Given the description of an element on the screen output the (x, y) to click on. 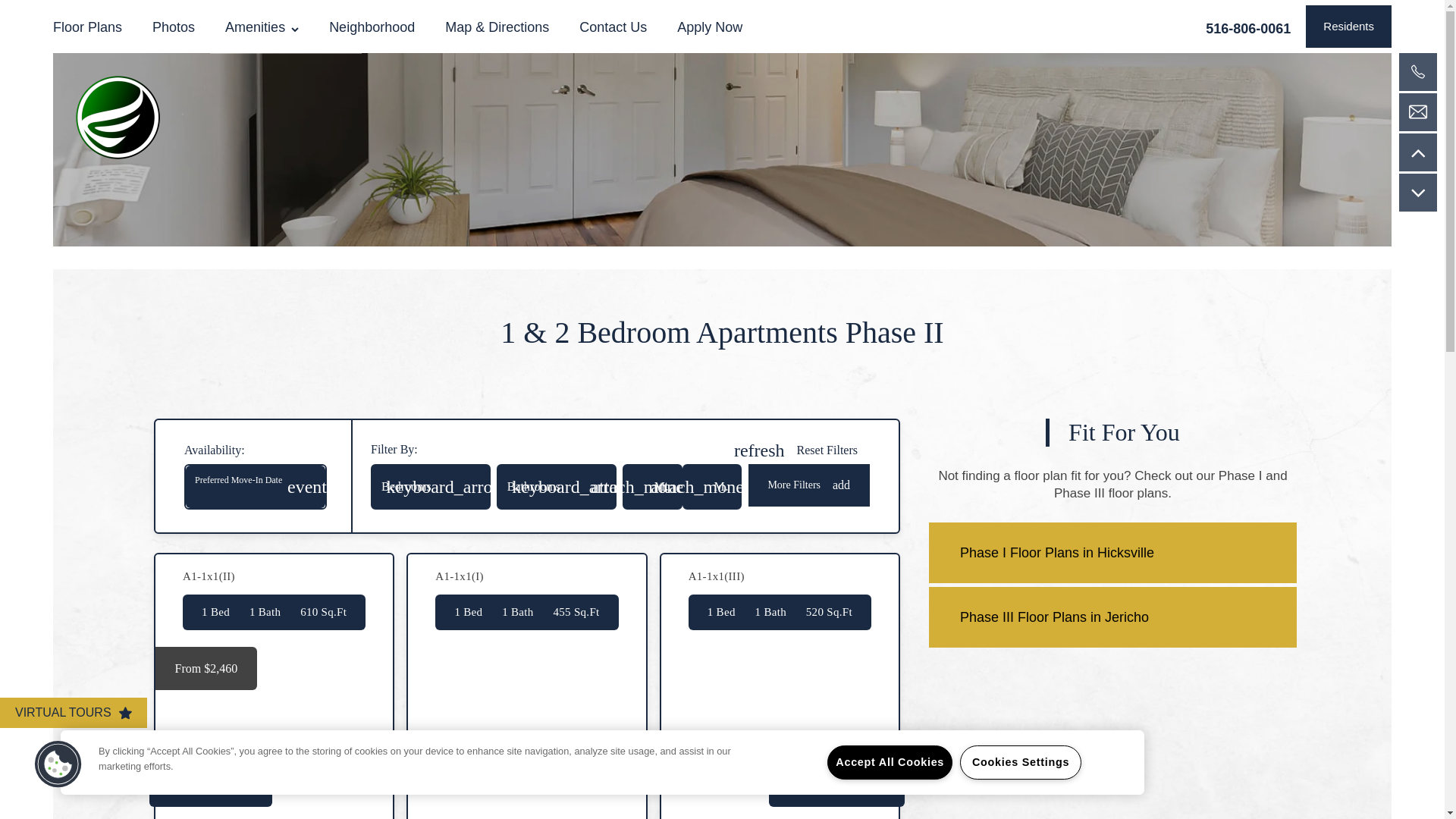
Pet Friendly (285, 28)
Floor Plans (94, 26)
Amenities (261, 26)
Apply Now (795, 450)
Neighborhood (709, 26)
Photos (371, 26)
Scroll Up (172, 26)
Contact Us (1418, 152)
Email (613, 26)
Phase I Floor Plans in Hicksville (1418, 112)
Cookies Button (1112, 552)
Property Phone Number (57, 764)
Scroll Down (1247, 26)
